Given the description of an element on the screen output the (x, y) to click on. 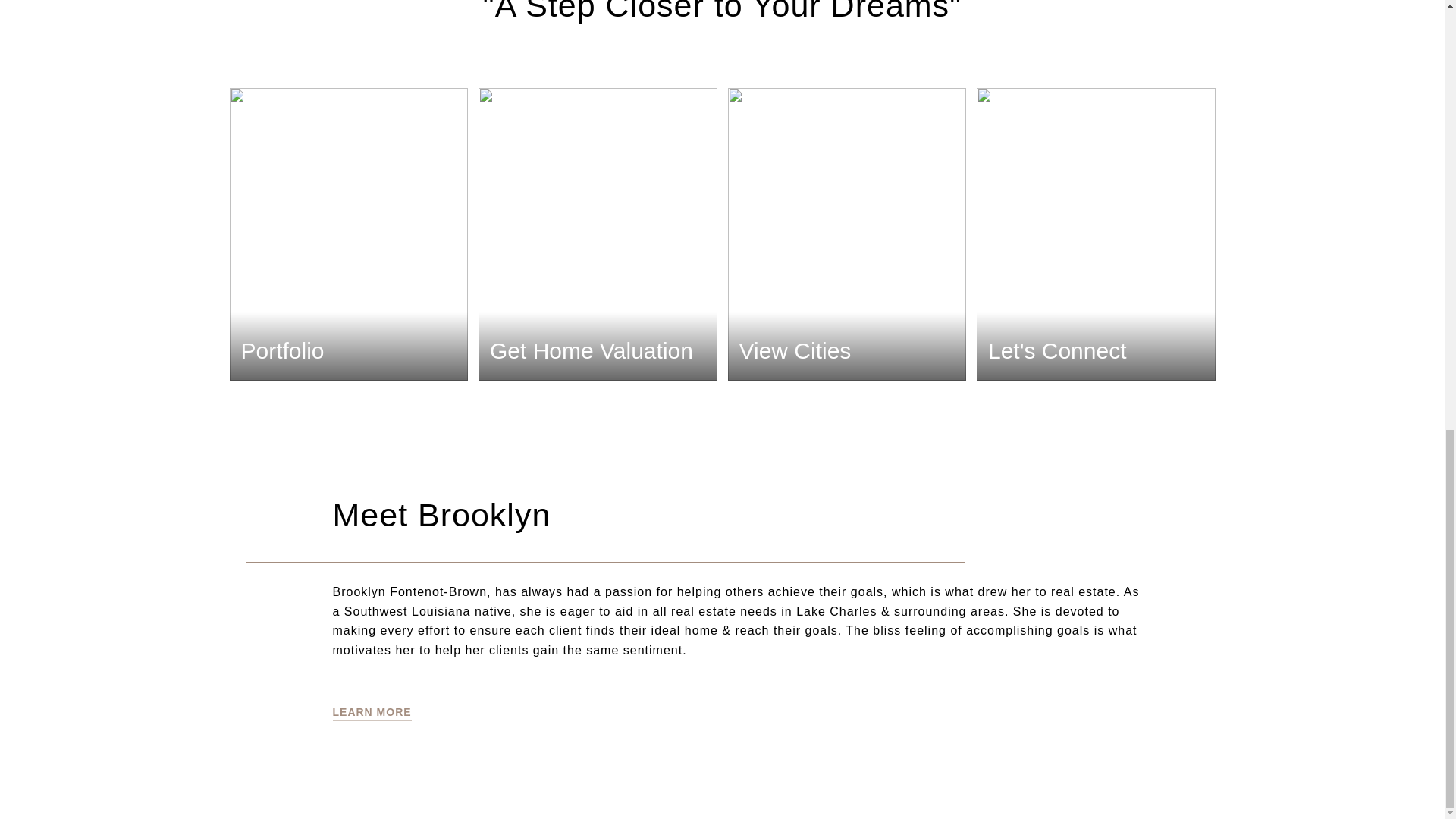
LEARN MORE (370, 712)
